Given the description of an element on the screen output the (x, y) to click on. 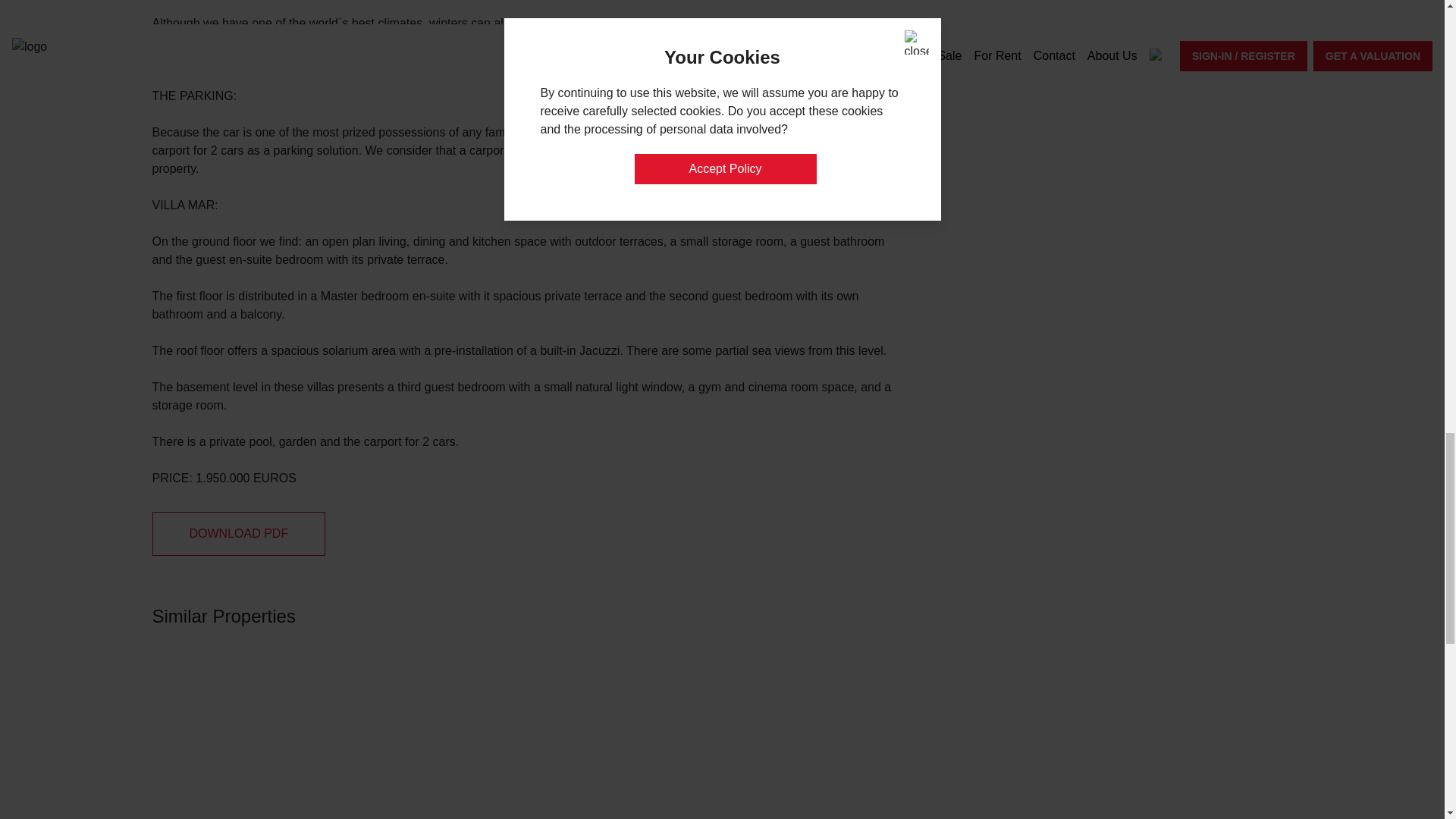
DOWNLOAD PDF (237, 533)
